Given the description of an element on the screen output the (x, y) to click on. 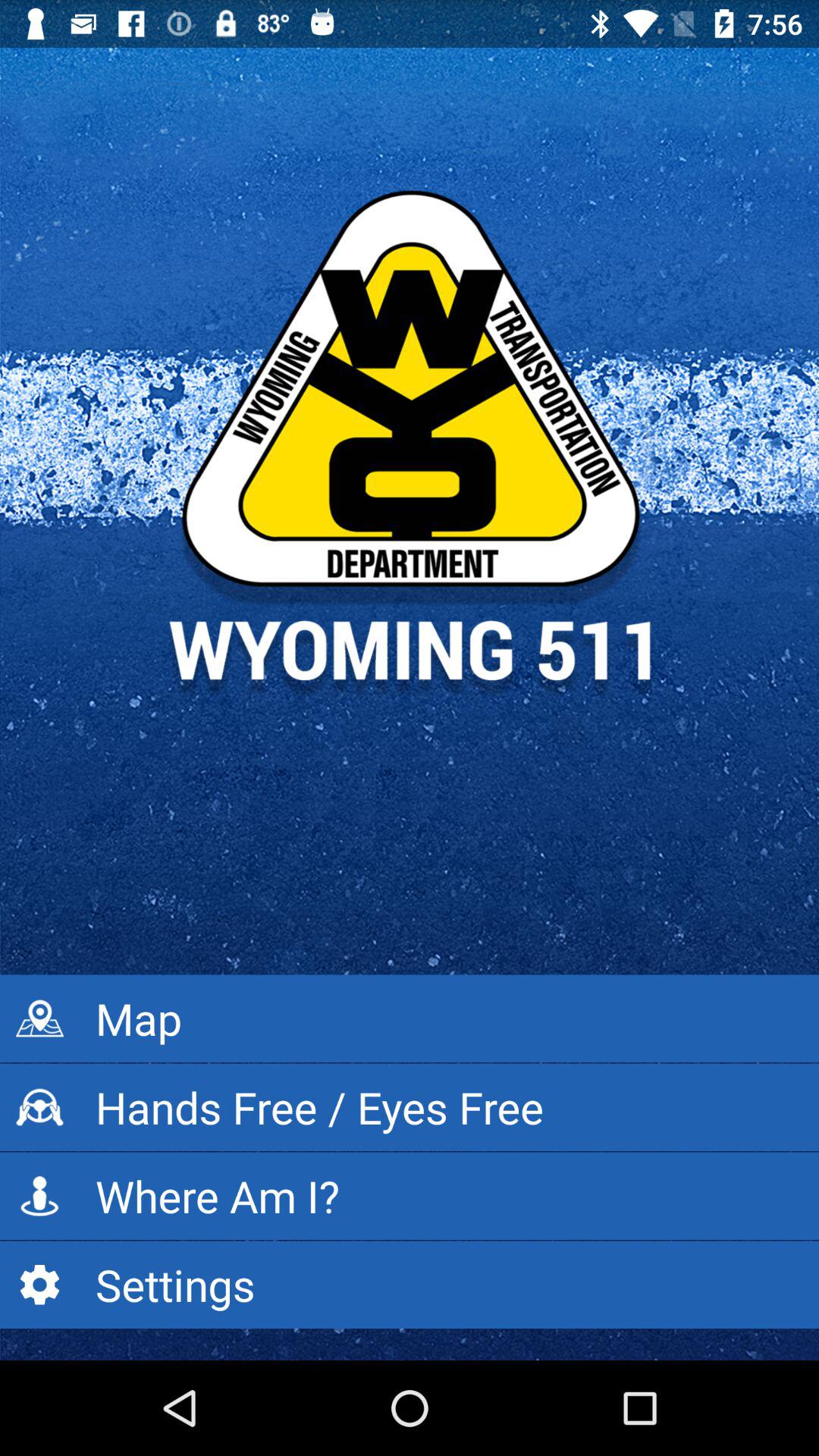
flip to the map app (409, 1018)
